Given the description of an element on the screen output the (x, y) to click on. 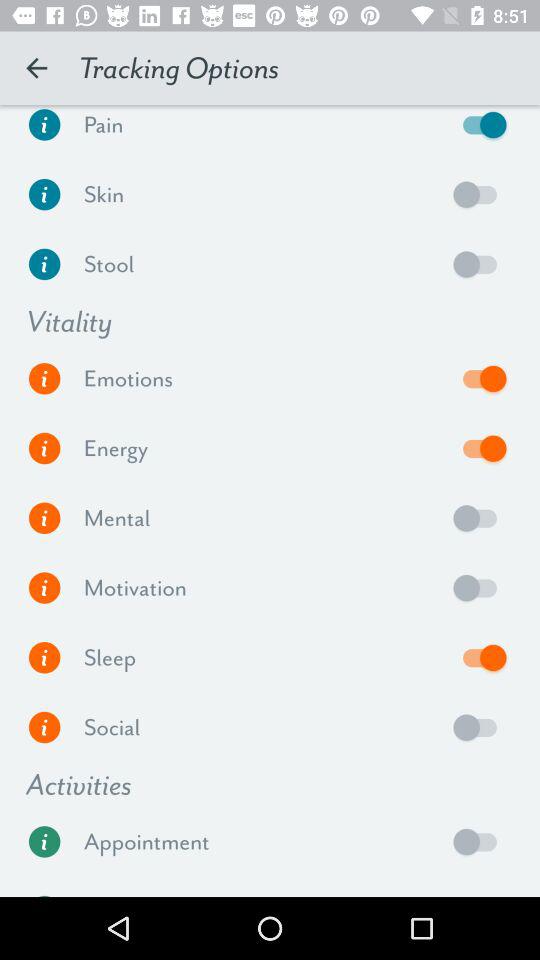
get information about appointments and how to set them up (44, 841)
